Given the description of an element on the screen output the (x, y) to click on. 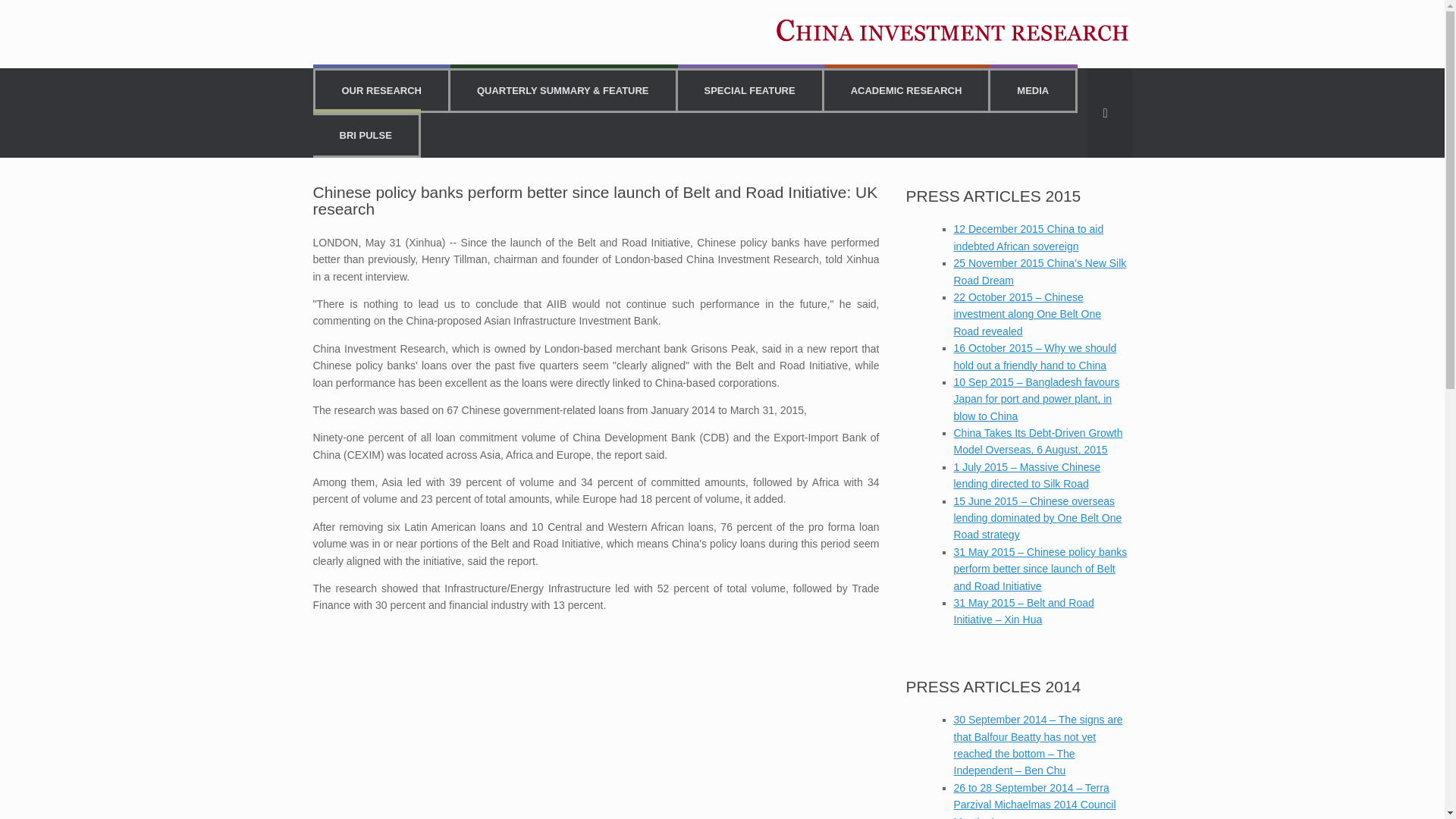
OUR RESEARCH (381, 90)
ACADEMIC RESEARCH (906, 90)
BRI PULSE (365, 135)
12 December 2015 China to aid indebted African sovereign (1028, 236)
MEDIA (1032, 90)
SPECIAL FEATURE (750, 90)
